Given the description of an element on the screen output the (x, y) to click on. 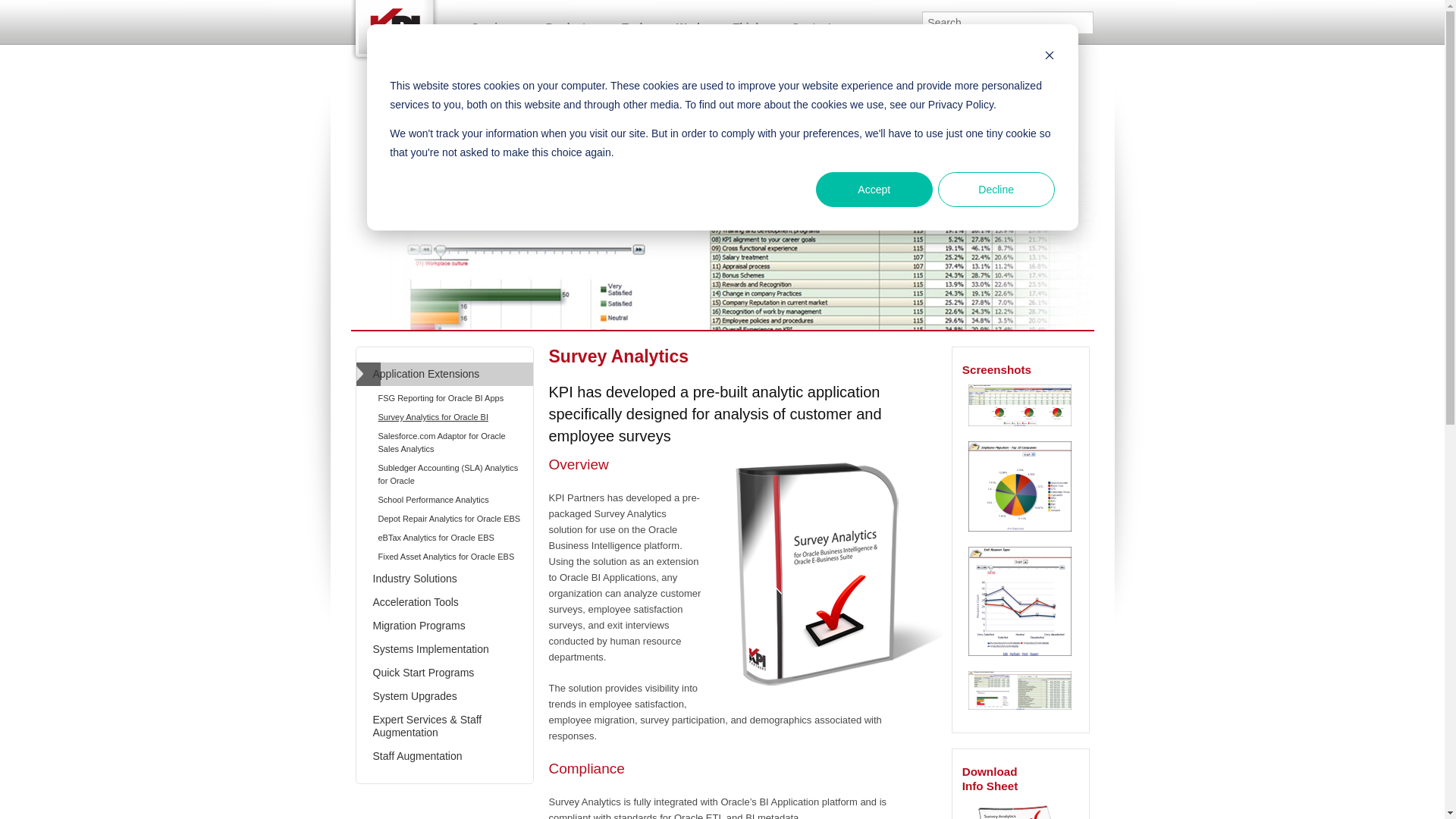
Services (494, 22)
Products (569, 22)
Tech (634, 22)
Work (689, 22)
Think (746, 22)
Home (399, 28)
